Given the description of an element on the screen output the (x, y) to click on. 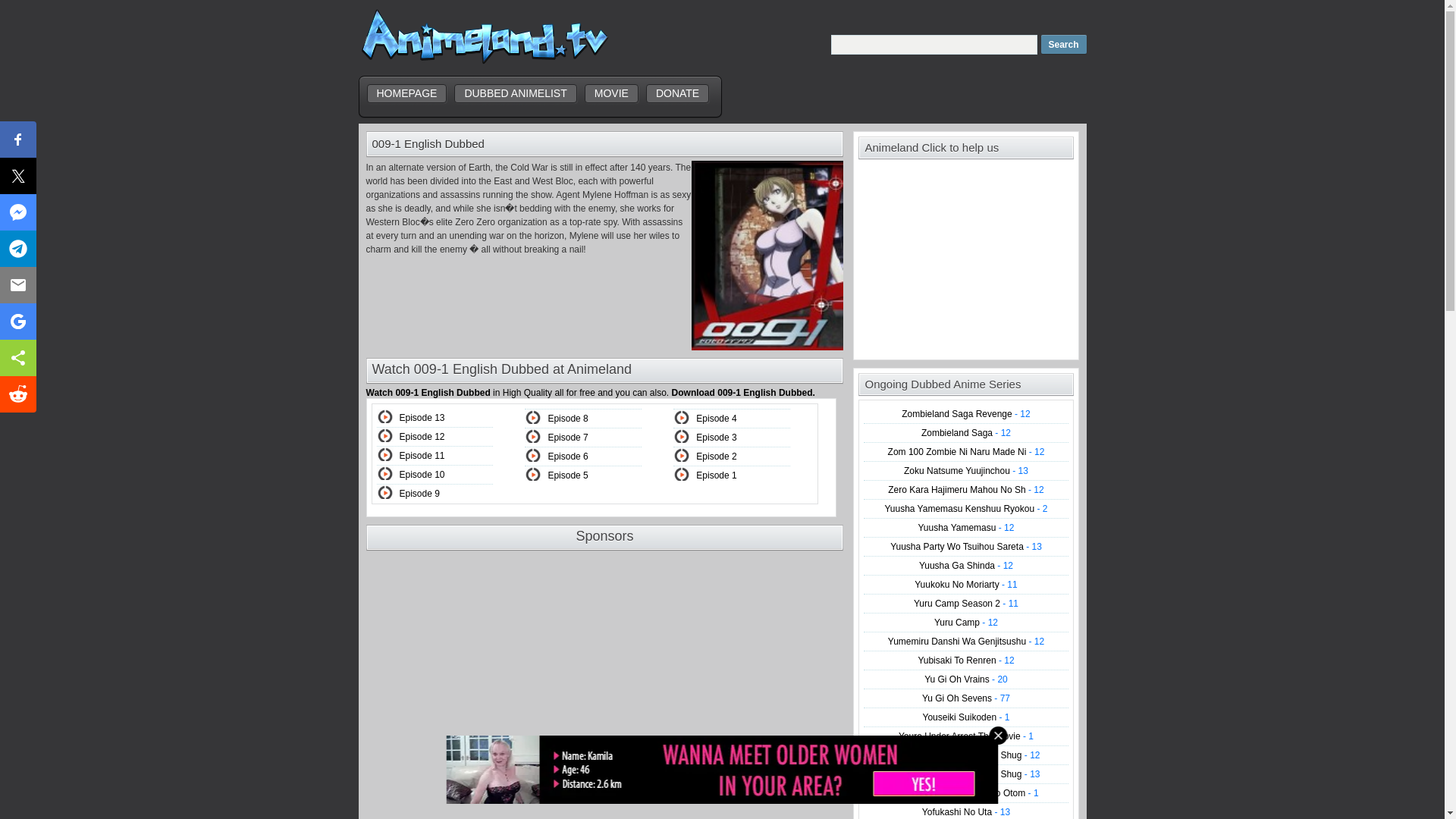
Episode 4 (715, 418)
MOVIE (612, 93)
Yuru Camp Season 2 - 11 (965, 603)
Zom 100 Zombie Ni Naru Made Ni Shitai 100 No Koto (966, 451)
HOMEPAGE (406, 93)
Youre Under Arrest The Movie - 1 (965, 736)
Episode 12 (421, 436)
Animeland (484, 62)
Yuusha Party Wo Tsuihou Sareta - 13 (965, 546)
Yuusha Yamemasu Kenshuu Ryokou - 2 (964, 508)
Yuukoku No Moriarty (965, 584)
Zoku Natsume Yuujinchou (965, 470)
Zoku Natsume Yuujinchou - 13 (965, 470)
Yumemiru Danshi Wa Genjitsushu - 12 (965, 641)
Yuru Camp Season 2 (965, 603)
